Given the description of an element on the screen output the (x, y) to click on. 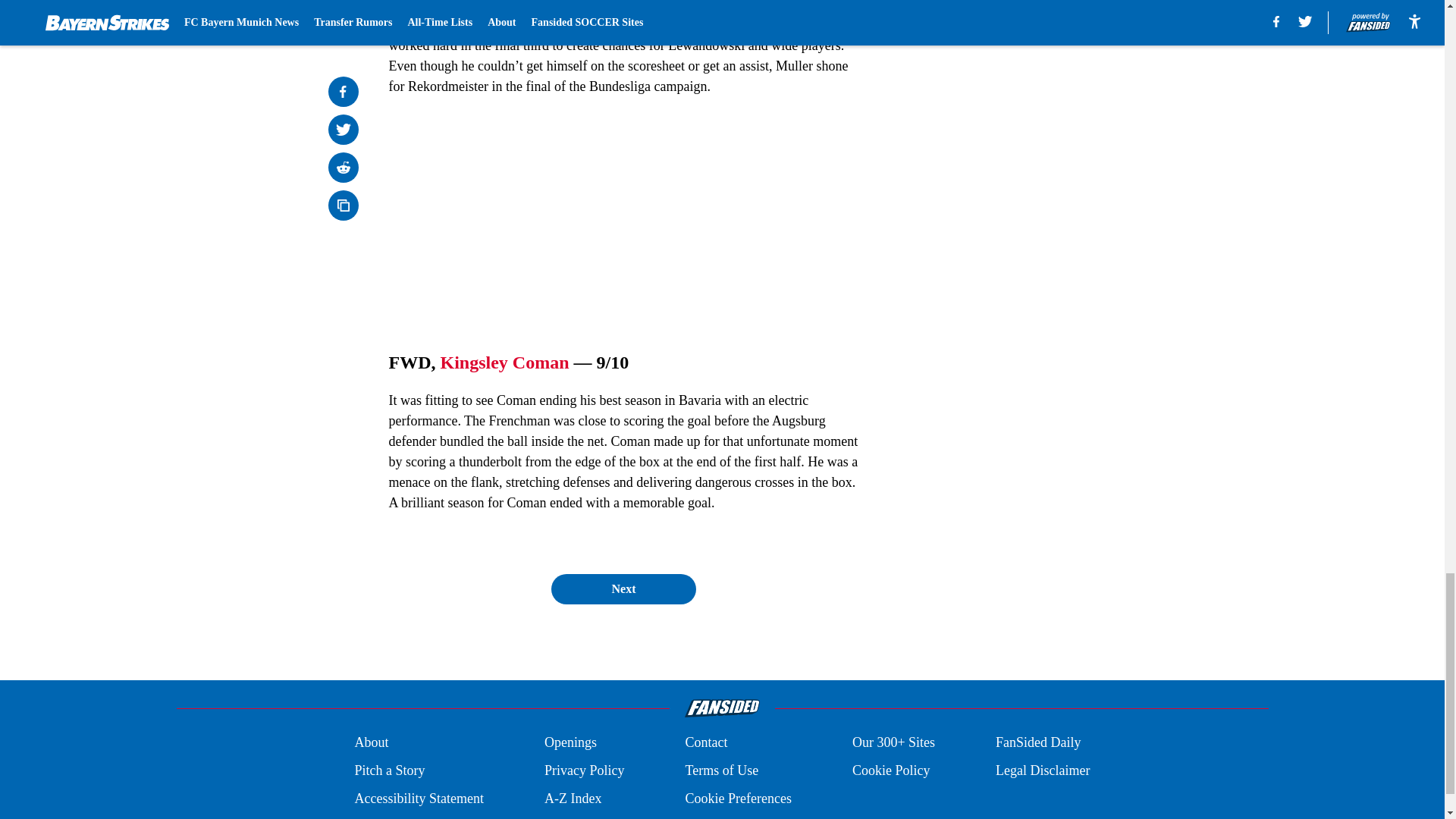
Contact (705, 742)
Kingsley Coman (504, 362)
Openings (570, 742)
FanSided Daily (1038, 742)
About (370, 742)
Privacy Policy (584, 770)
Next (622, 589)
Pitch a Story (389, 770)
